Given the description of an element on the screen output the (x, y) to click on. 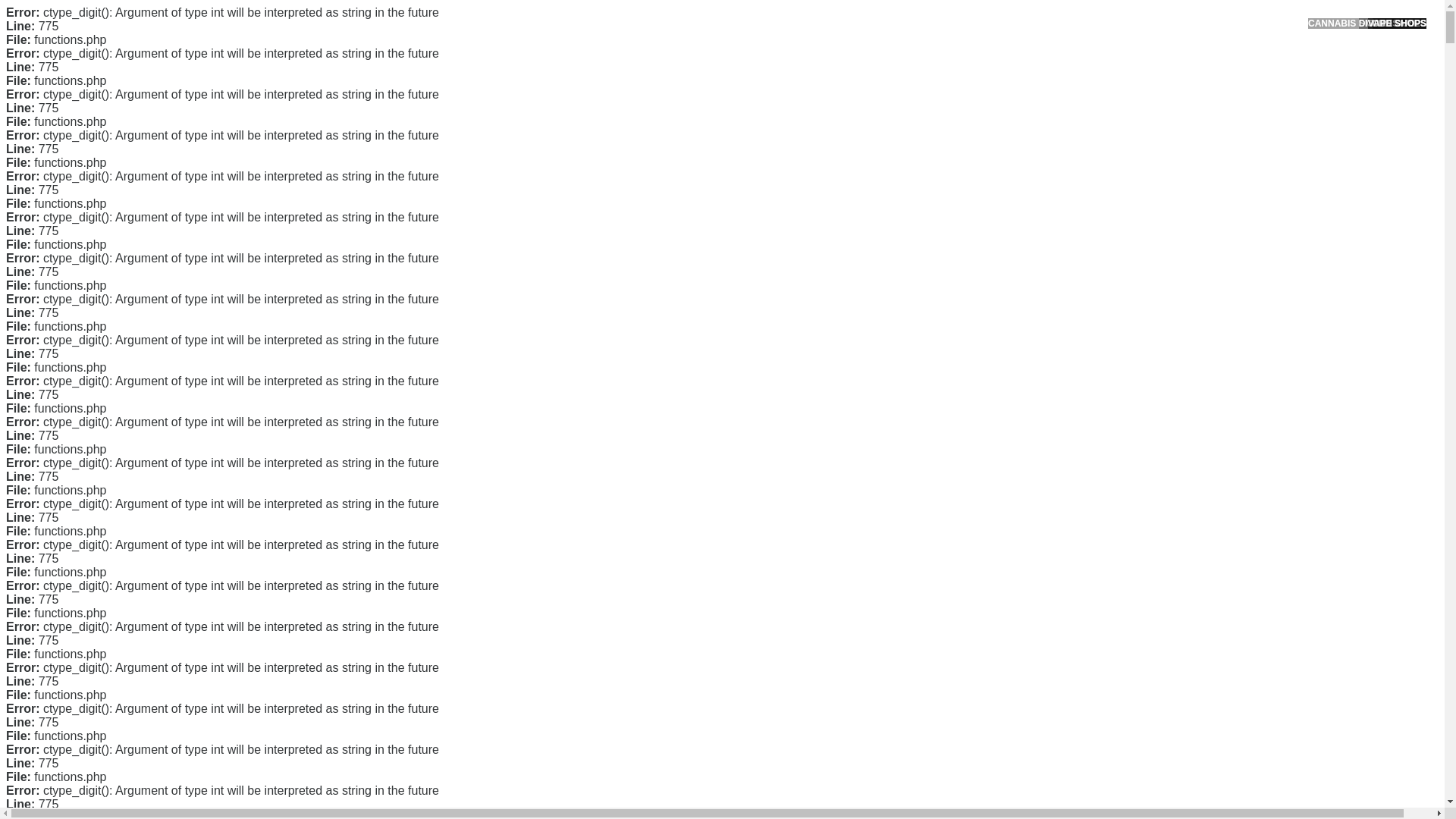
CONVERSATIONSWITHCARLOS.COM (474, 28)
Search for: (1049, 47)
Latest Article (996, 172)
Blog (976, 510)
Search (1050, 85)
ADMINISTRATOR (417, 118)
details (692, 644)
find out here (360, 447)
August 2020 (996, 432)
you can check here (599, 393)
Contact Us (991, 258)
DMCA Policy (996, 282)
Log in (980, 588)
RSS (977, 612)
Search (1050, 85)
